Given the description of an element on the screen output the (x, y) to click on. 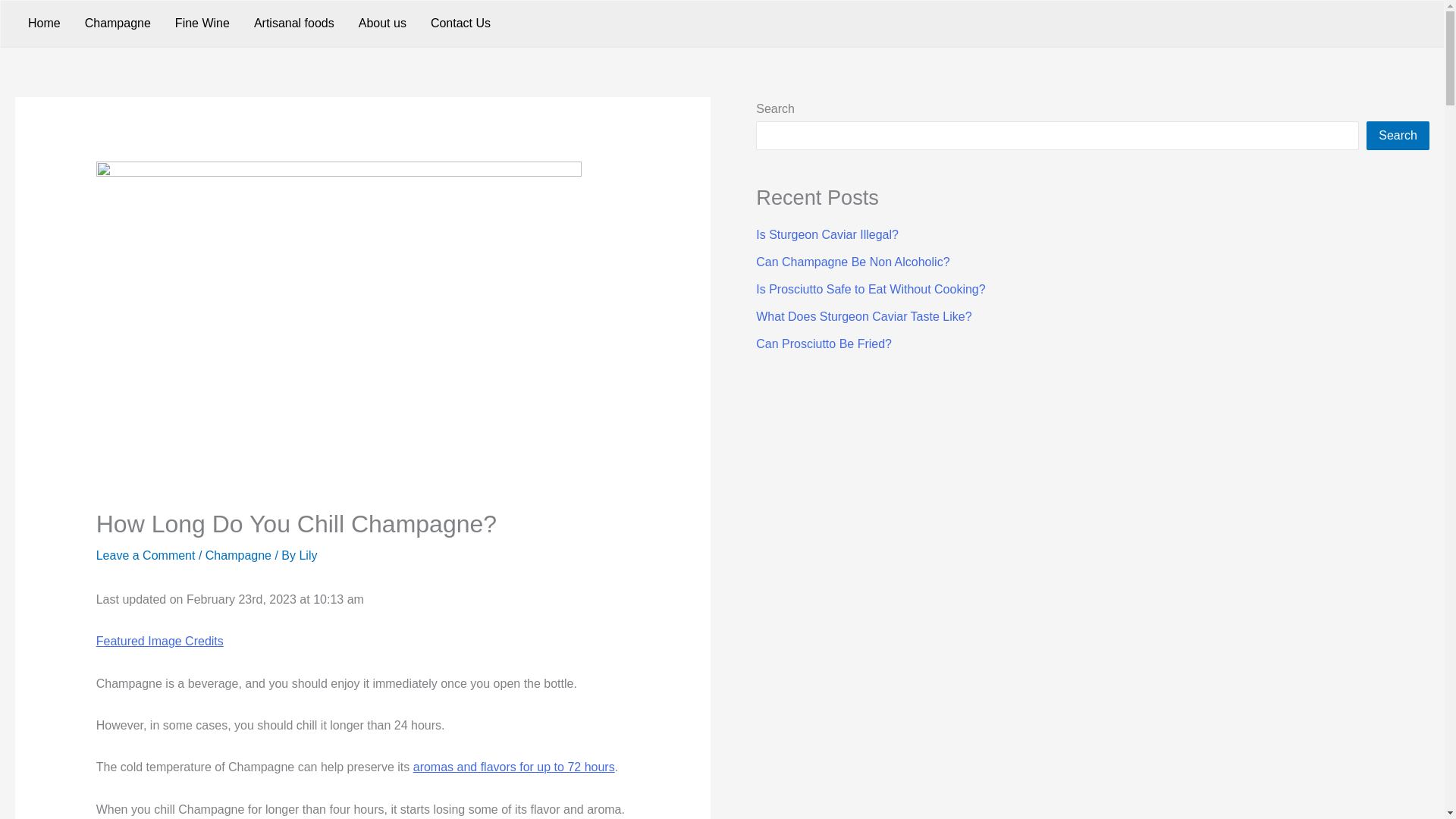
Is Sturgeon Caviar Illegal? (826, 234)
Can Prosciutto Be Fried? (823, 343)
Contact Us (460, 22)
Is Prosciutto Safe to Eat Without Cooking? (870, 288)
Artisanal foods (293, 22)
What Does Sturgeon Caviar Taste Like? (863, 316)
Fine Wine (202, 22)
aromas and flavors for up to 72 hours (513, 766)
Champagne (237, 554)
Champagne (117, 22)
Lily (307, 554)
Home (44, 22)
Leave a Comment (145, 554)
Featured Image Credits (160, 640)
About us (382, 22)
